Given the description of an element on the screen output the (x, y) to click on. 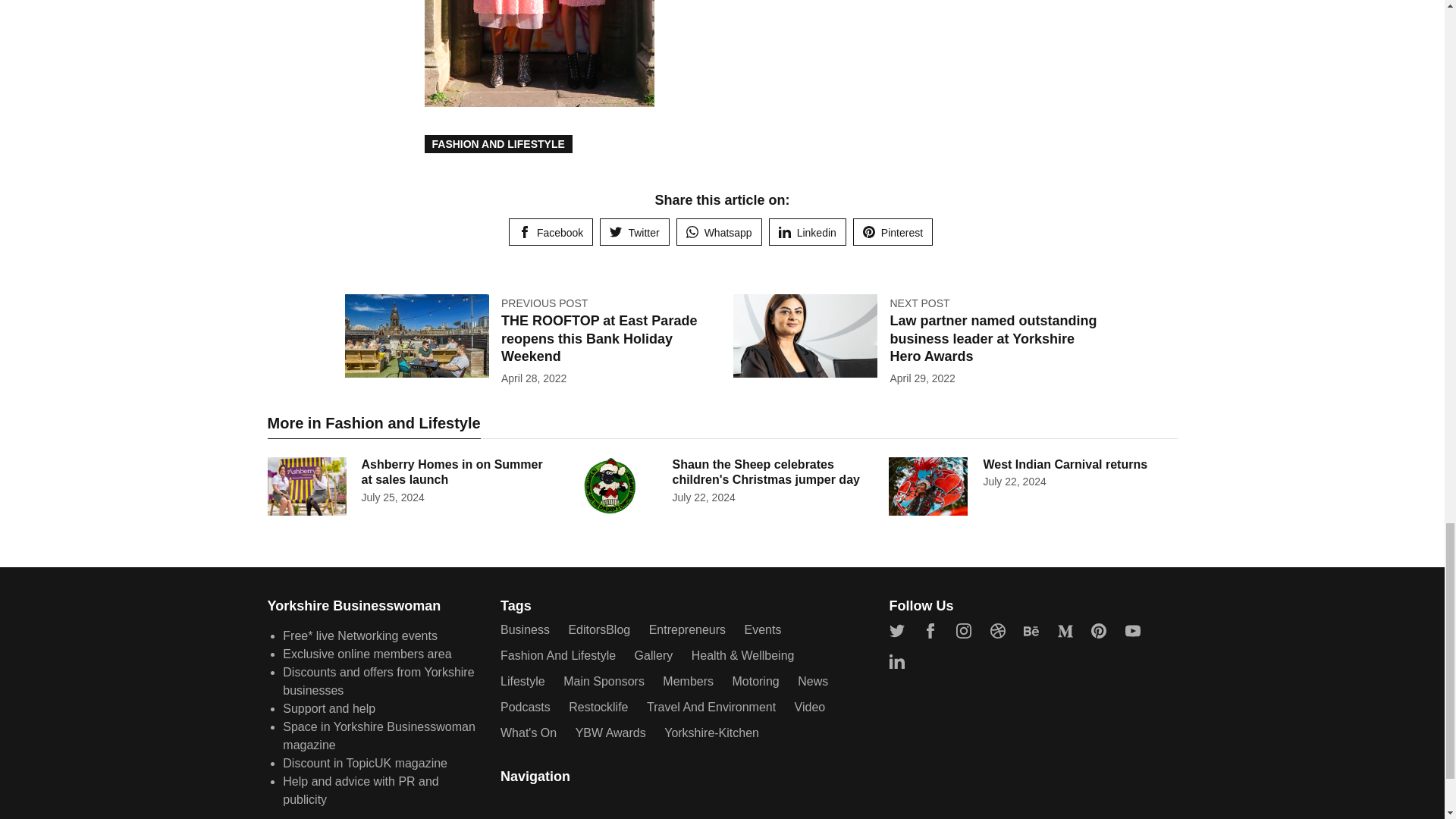
28 April, 2022 (533, 378)
FASHION AND LIFESTYLE (498, 144)
Ashberry Homes in on Summer at sales launch (451, 471)
Twitter (633, 231)
THE ROOFTOP at East Parade reopens this Bank Holiday Weekend (598, 337)
Shaun the Sheep celebrates children's Christmas jumper day (765, 471)
Share on Twitter (633, 231)
West Indian Carnival returns (1064, 463)
PREVIOUS POST (544, 303)
Business (525, 629)
29 April, 2022 (922, 378)
Share on Facebook (550, 231)
Whatsapp (719, 231)
Facebook (550, 231)
